Given the description of an element on the screen output the (x, y) to click on. 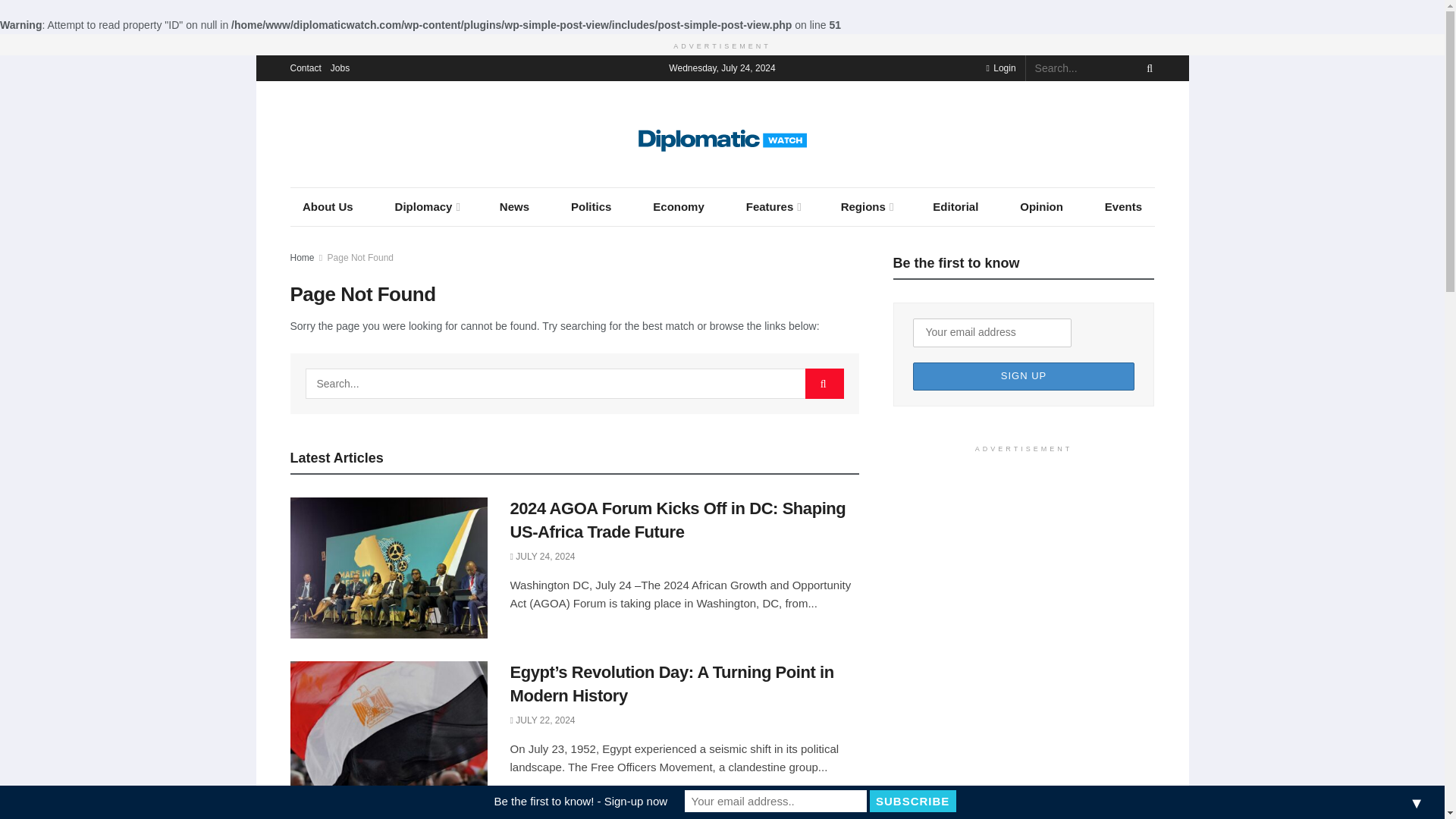
Sign up (1023, 376)
Contact (304, 68)
Login (999, 68)
Subscribe (912, 801)
Economy (678, 206)
News (514, 206)
Events (1123, 206)
About Us (327, 206)
Politics (590, 206)
Diplomacy (426, 206)
Regions (866, 206)
Features (772, 206)
Editorial (955, 206)
Opinion (1041, 206)
